Given the description of an element on the screen output the (x, y) to click on. 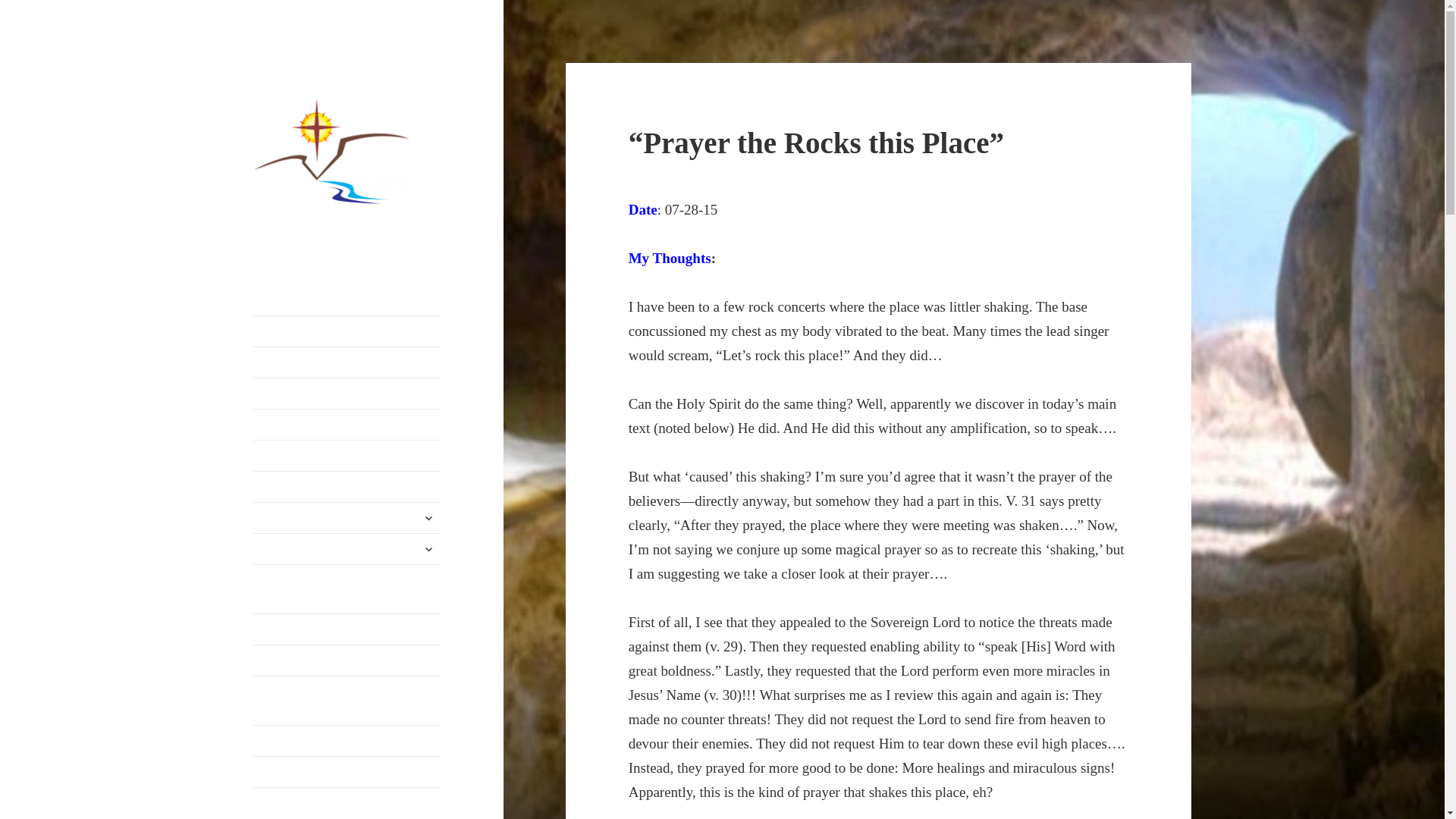
Calendar (347, 455)
Highlighted Activities (347, 486)
How to Get Here: A Map (347, 362)
Sermons (347, 660)
Family Opportunities (347, 548)
Highlighted Activities (347, 771)
Who we are (347, 517)
When to Get Here: Service Times (347, 393)
Preparation for a Celebration of a Lifestyle Worship (347, 589)
VBC Live (347, 629)
What to Expect When You Get Here (347, 424)
expand child menu (428, 517)
Welcome Home (347, 331)
expand child menu (428, 549)
